Given the description of an element on the screen output the (x, y) to click on. 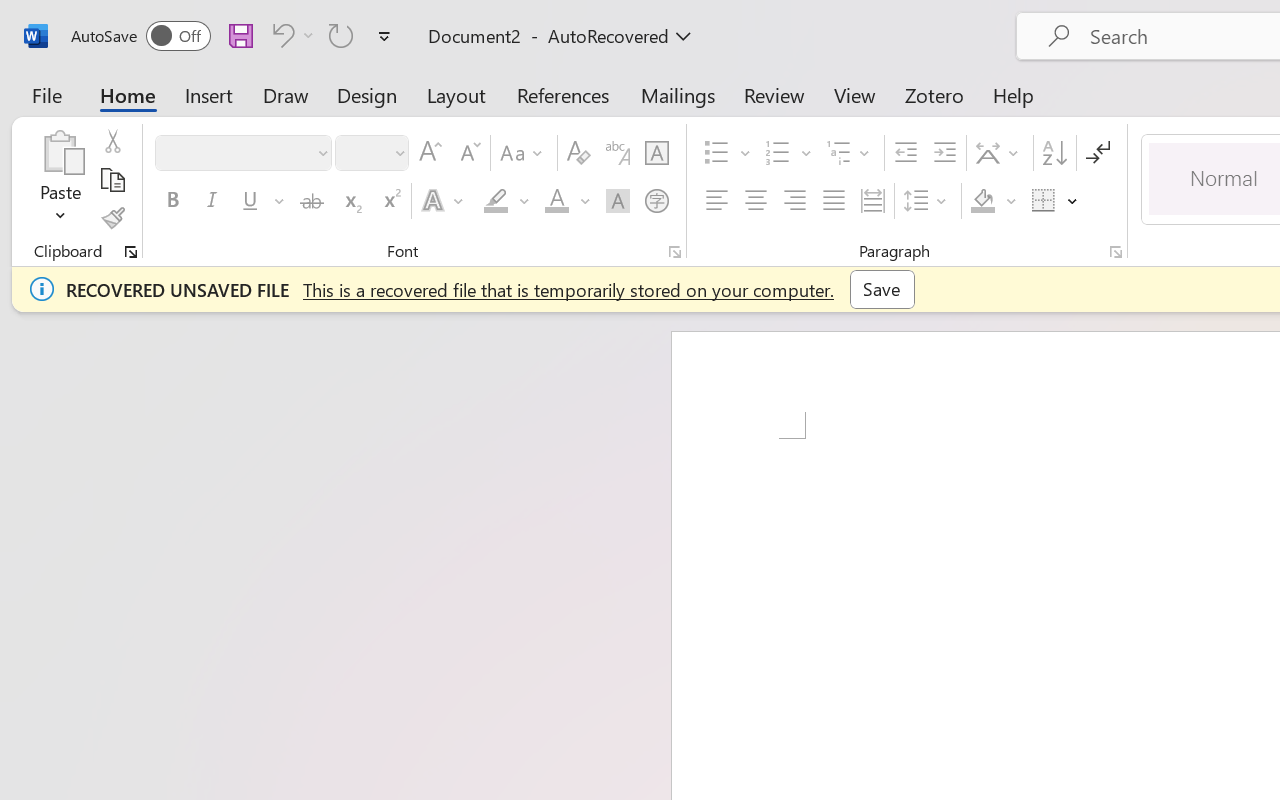
Superscript (390, 201)
Grow Font (430, 153)
Sort... (1054, 153)
Font... (675, 252)
Shading RGB(0, 0, 0) (982, 201)
Text Effects and Typography (444, 201)
Strikethrough (312, 201)
Can't Undo (290, 35)
Can't Undo (280, 35)
